Given the description of an element on the screen output the (x, y) to click on. 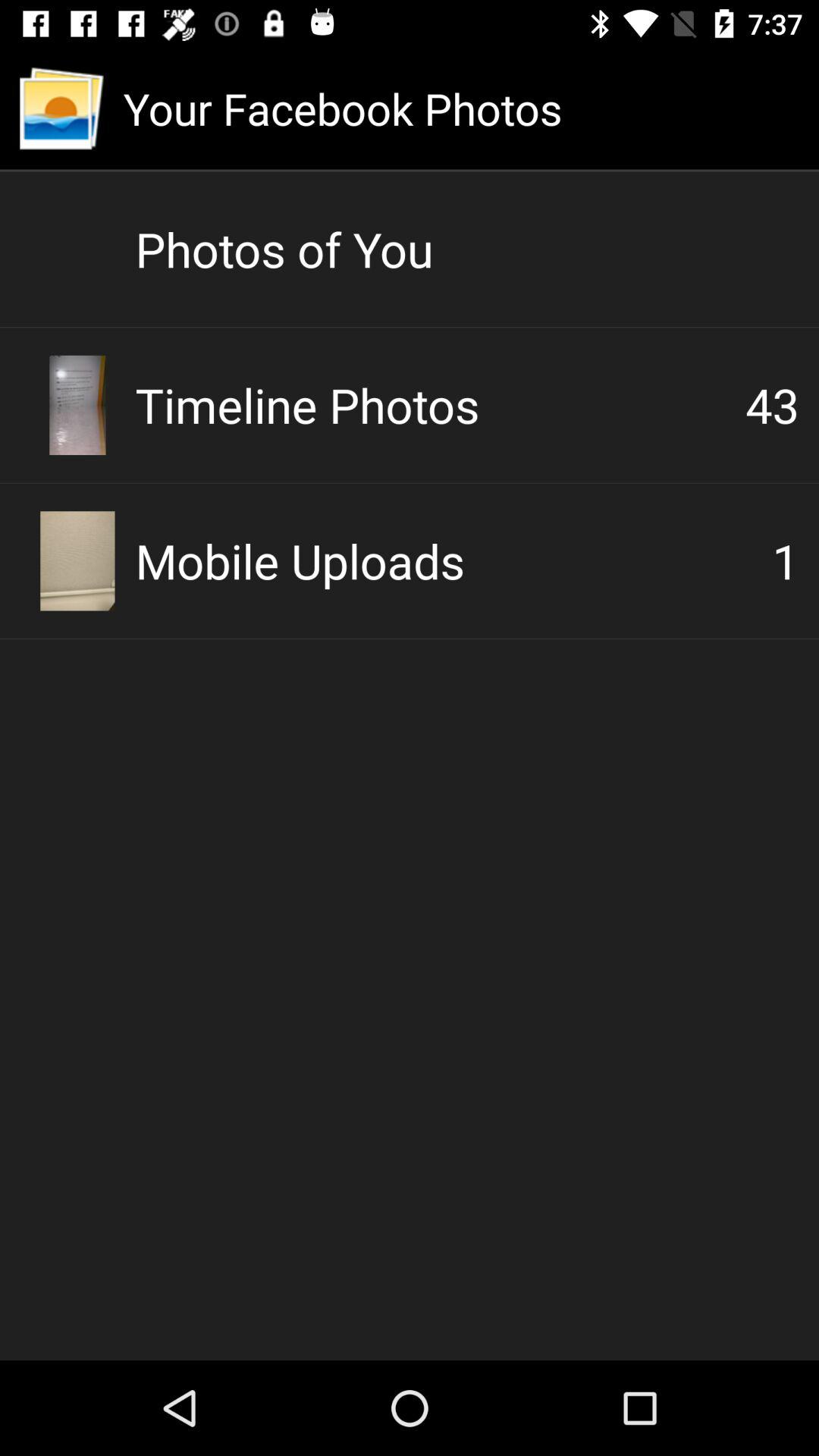
tap the icon next to the 43 app (440, 404)
